Given the description of an element on the screen output the (x, y) to click on. 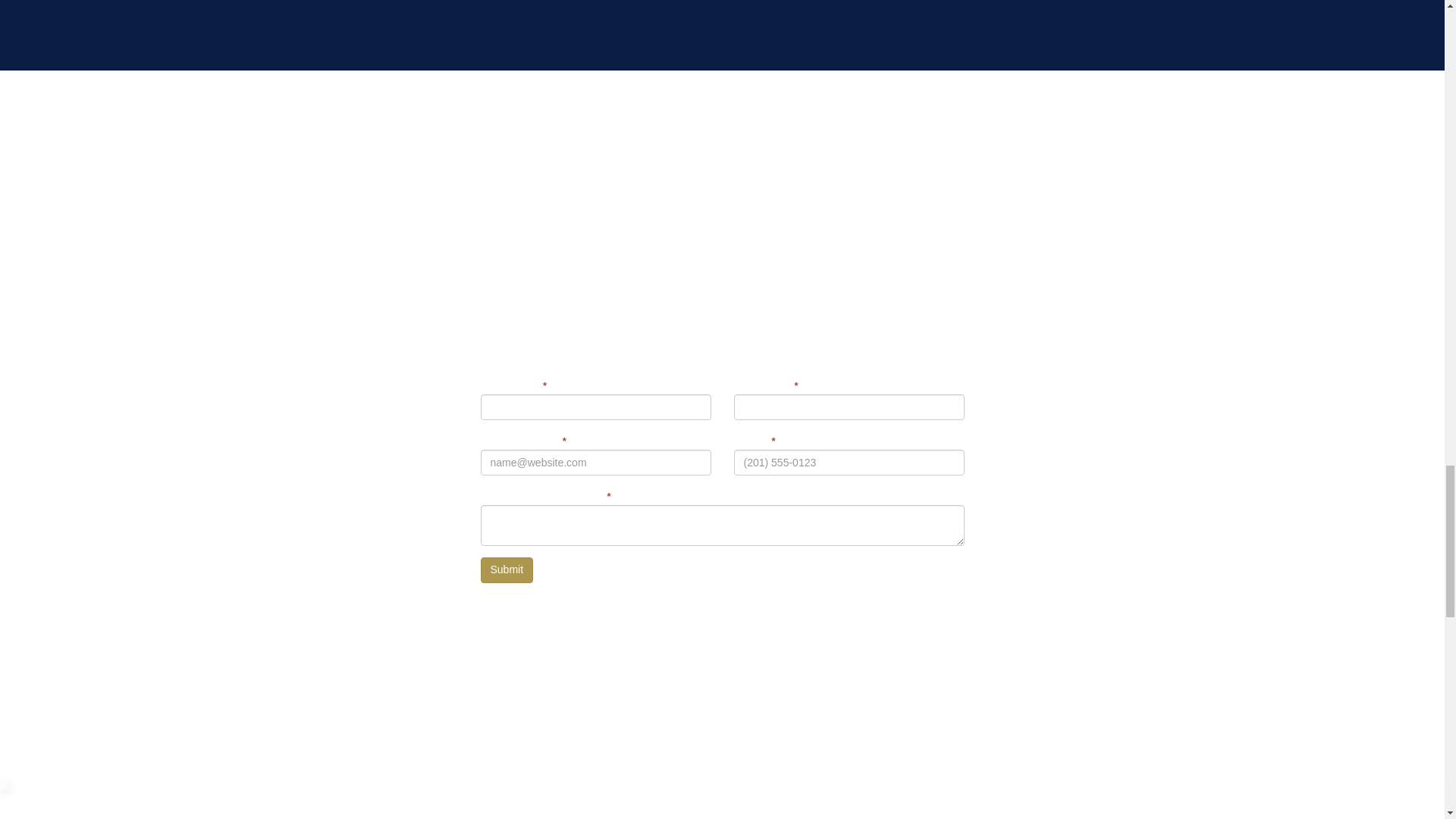
Please enter your question (721, 525)
